Given the description of an element on the screen output the (x, y) to click on. 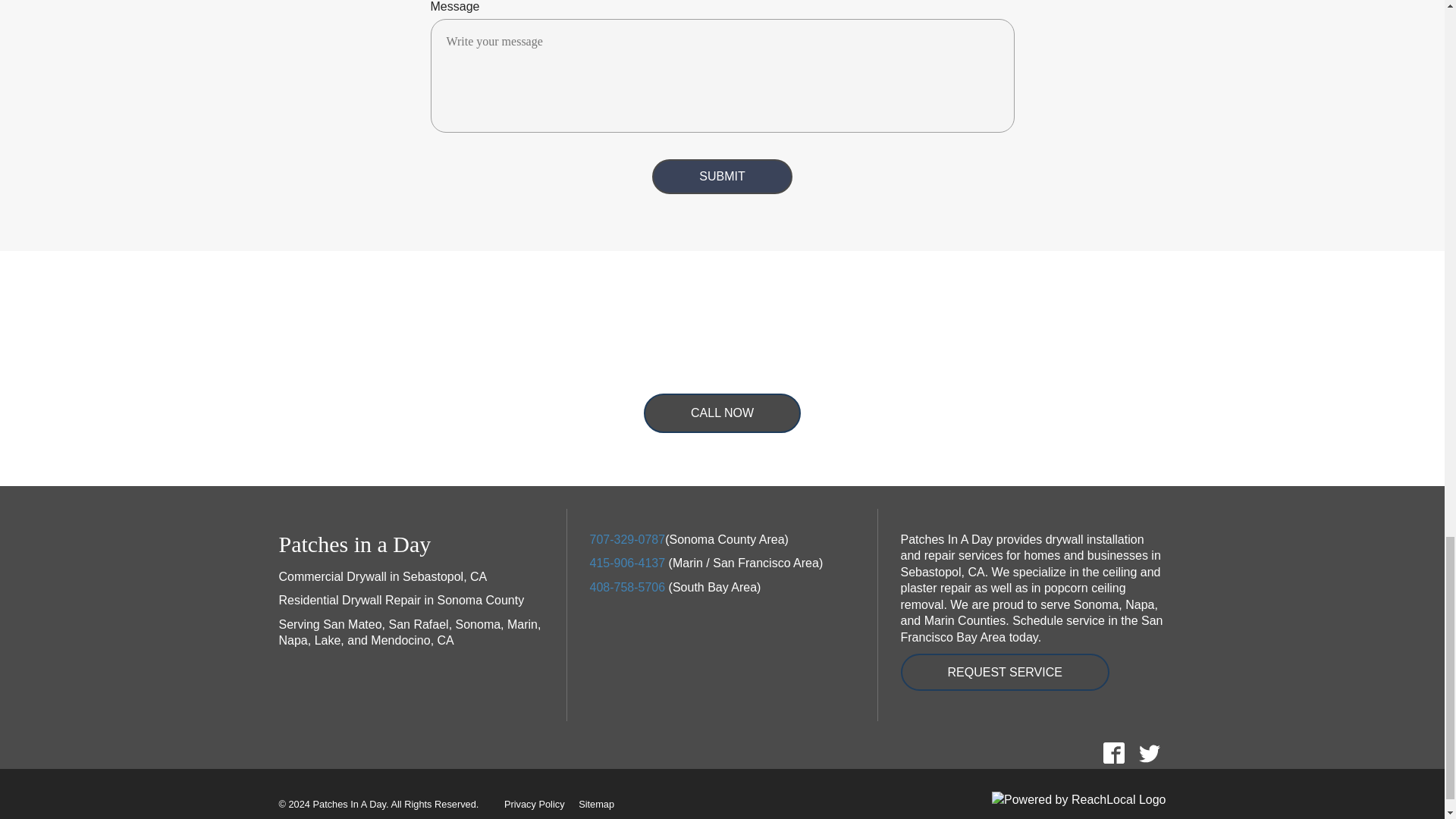
facebook (1113, 752)
Submit (722, 176)
twitter (1149, 752)
